Given the description of an element on the screen output the (x, y) to click on. 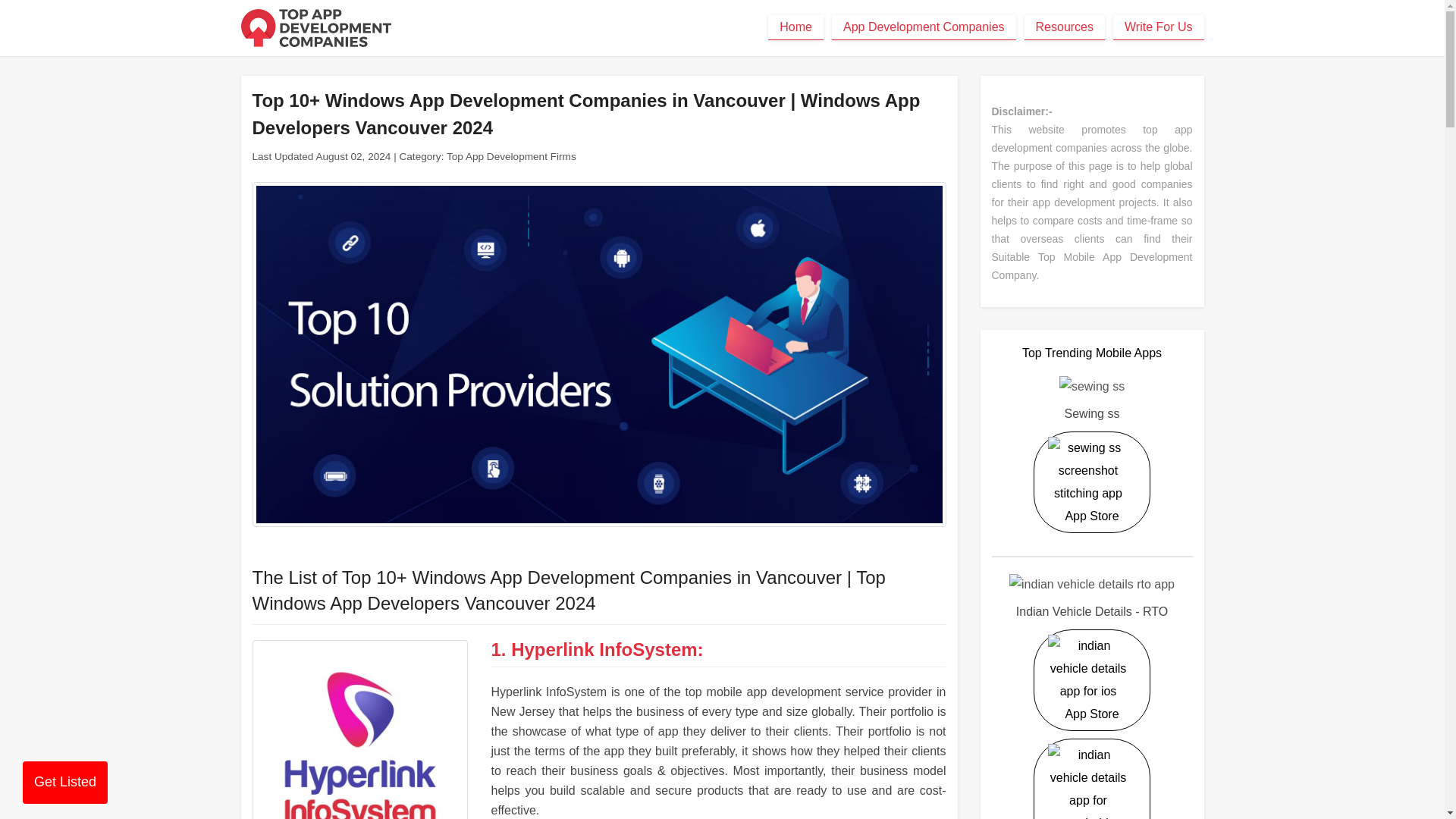
Home (796, 27)
Hyperlink InfoSystem (359, 729)
Hyperlink InfoSystem (604, 649)
Resources (1065, 27)
App Development Companies (923, 27)
Write For Us (1158, 27)
